Given the description of an element on the screen output the (x, y) to click on. 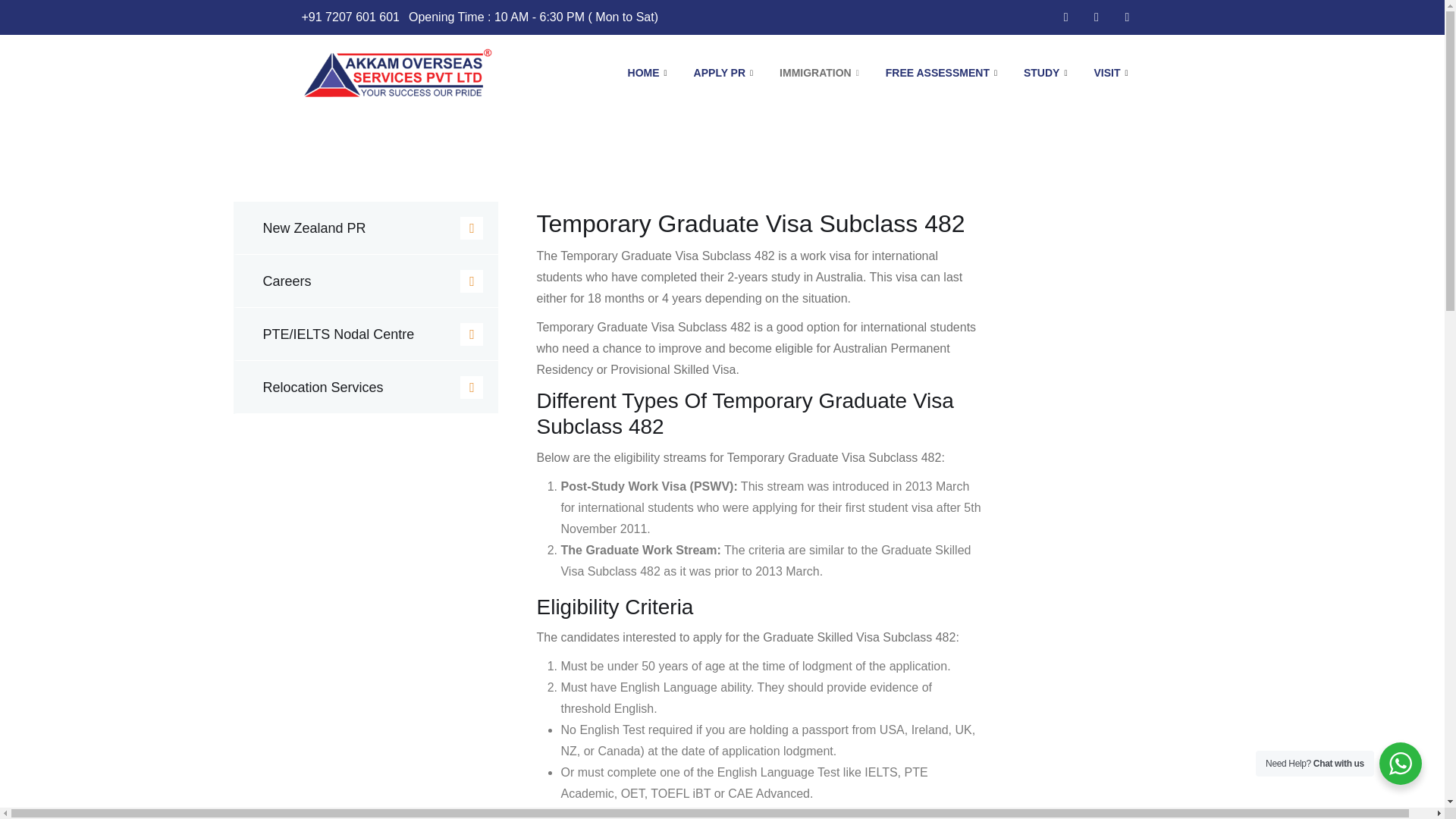
APPLY PR (725, 72)
IMMIGRATION (821, 72)
HOME (648, 72)
